Given the description of an element on the screen output the (x, y) to click on. 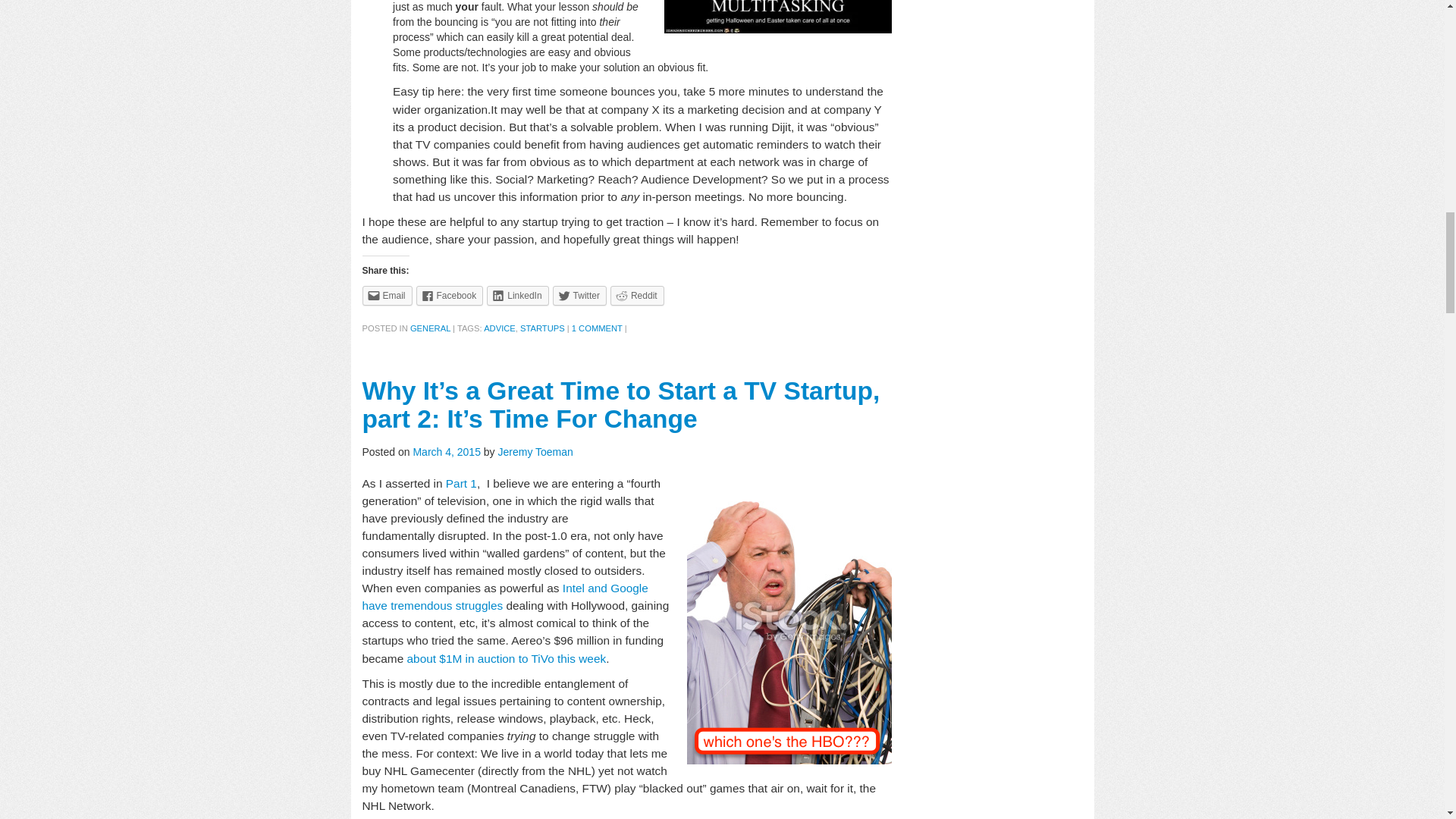
STARTUPS (541, 327)
View all posts by Jeremy Toeman (535, 451)
Twitter (580, 295)
Click to share on LinkedIn (517, 295)
Click to share on Facebook (449, 295)
LinkedIn (517, 295)
Click to share on Reddit (636, 295)
Jeremy Toeman (535, 451)
1 COMMENT (597, 327)
March 4, 2015 (447, 451)
